Given the description of an element on the screen output the (x, y) to click on. 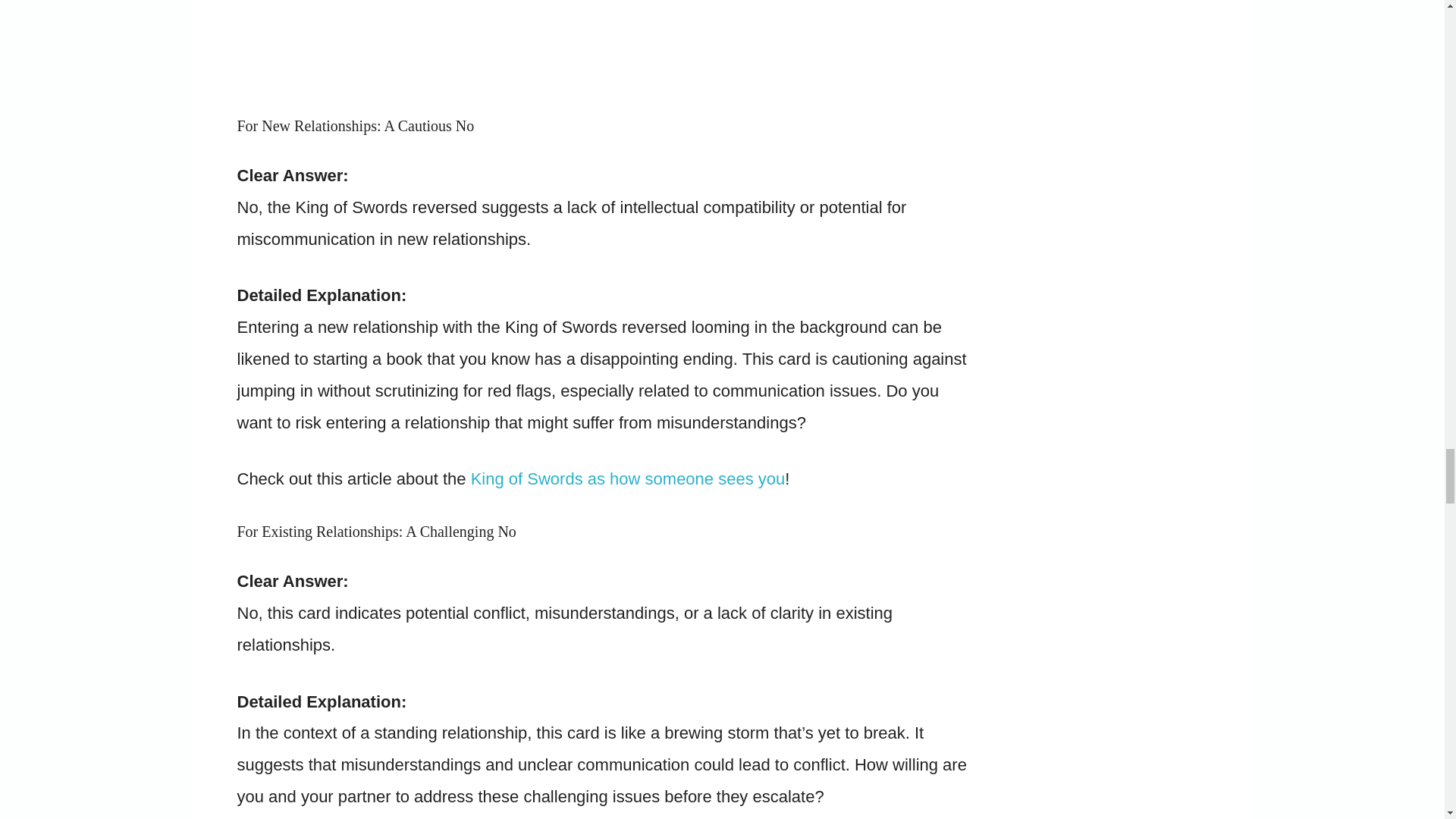
King of Swords as how someone sees you (628, 478)
